Given the description of an element on the screen output the (x, y) to click on. 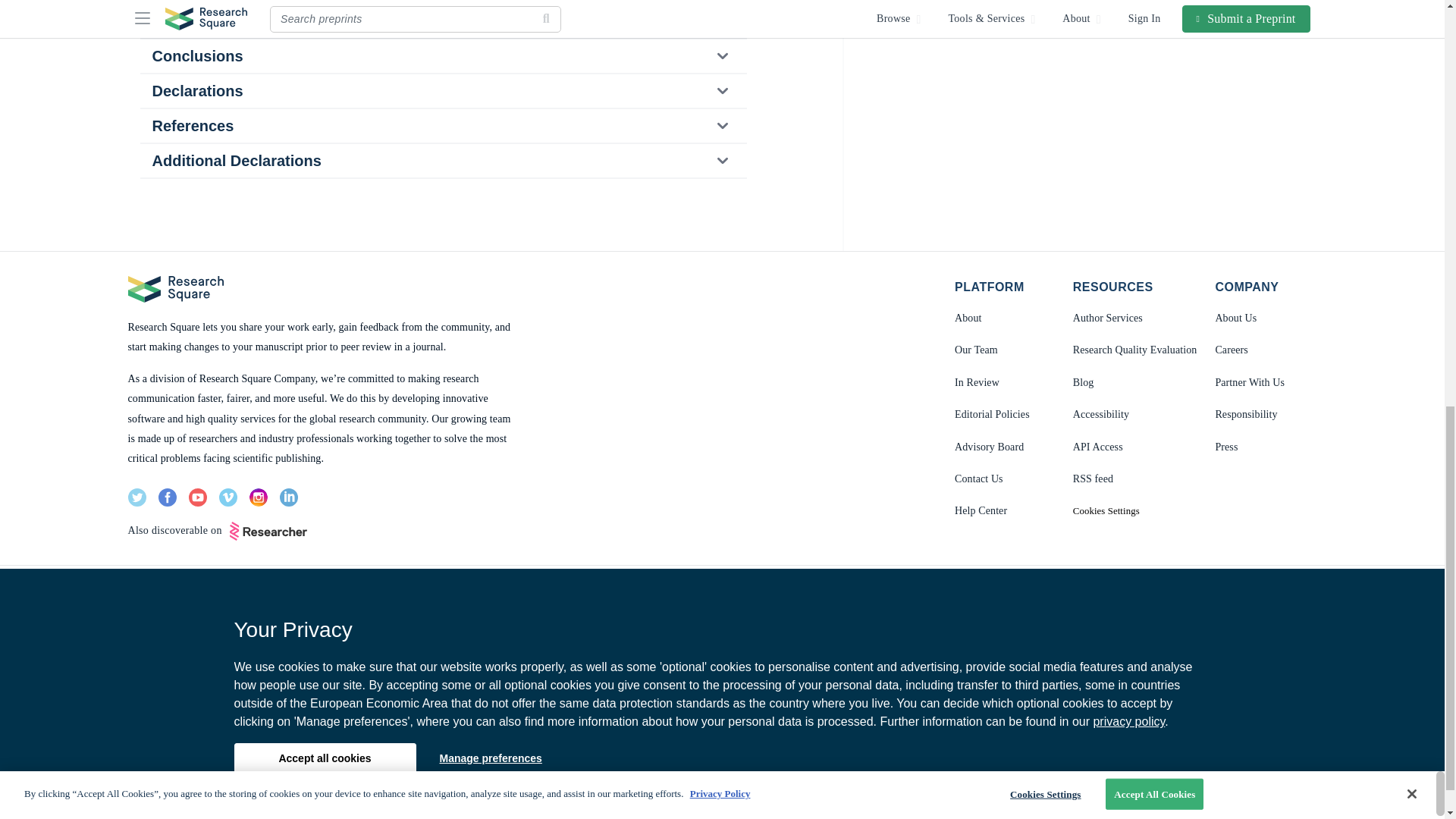
References (442, 125)
Declarations (442, 90)
Discussion (442, 20)
Conclusions (442, 55)
Additional Declarations (442, 160)
